Given the description of an element on the screen output the (x, y) to click on. 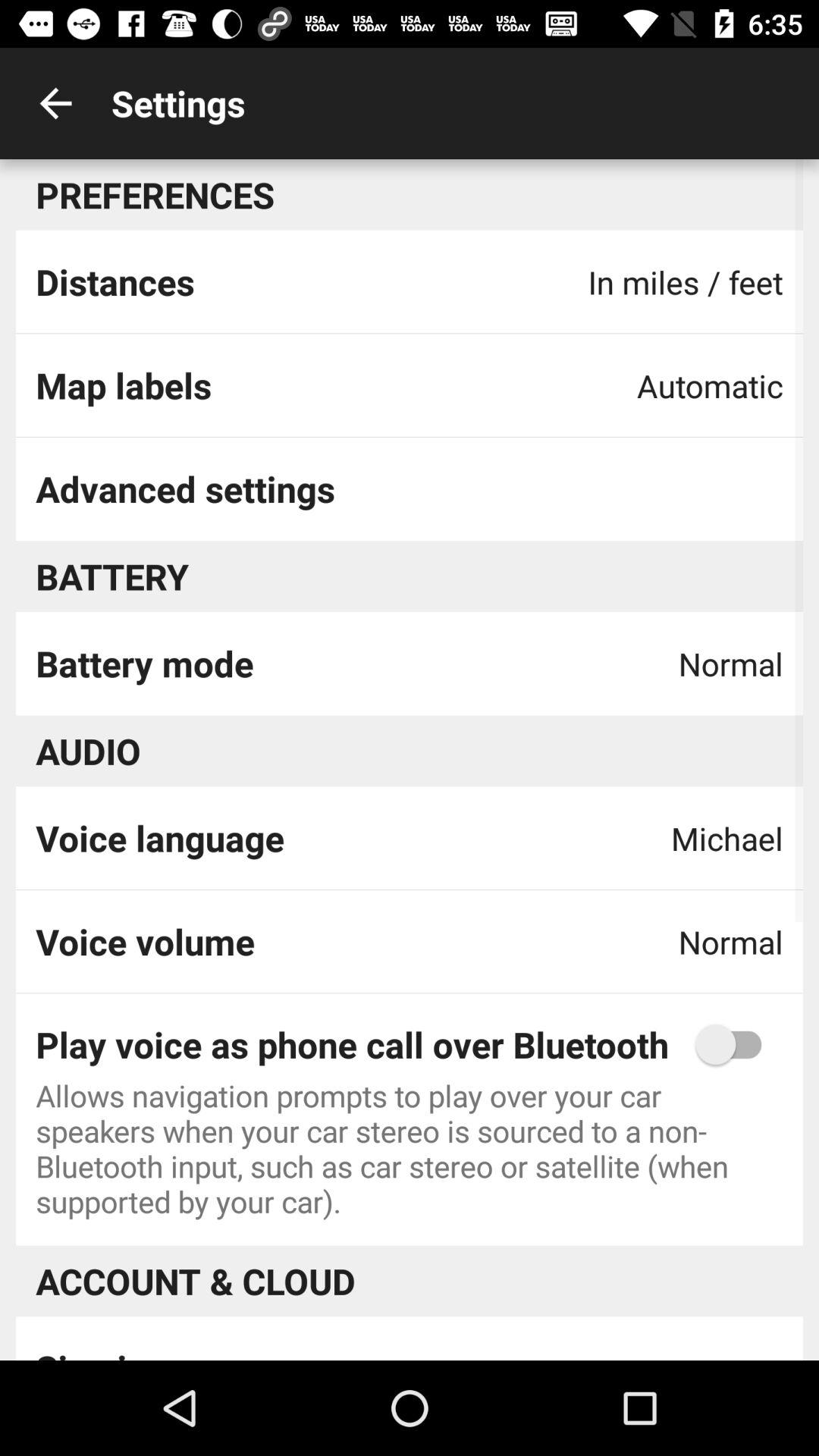
bluetooth on (735, 1044)
